Given the description of an element on the screen output the (x, y) to click on. 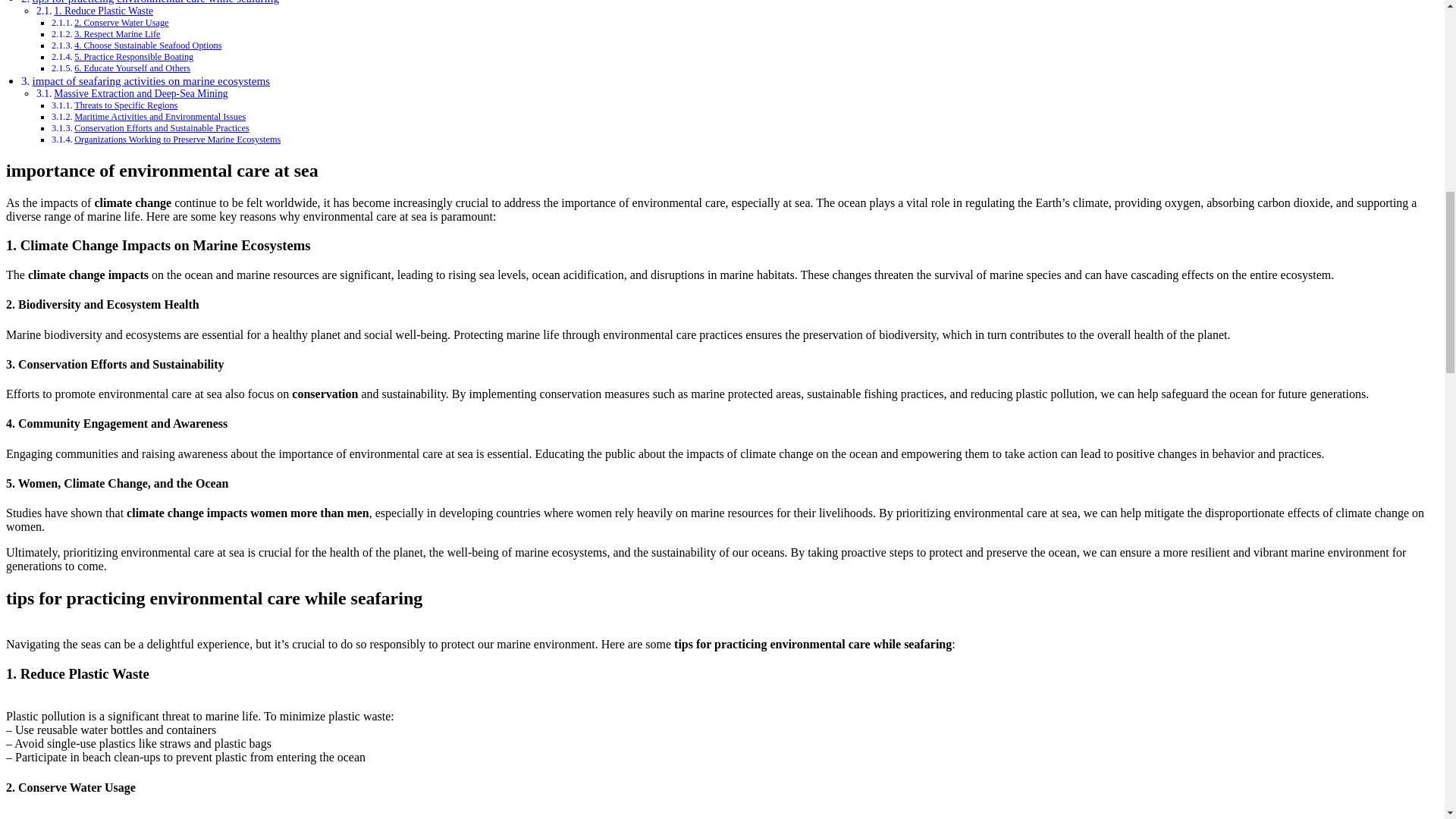
5. Practice Responsible Boating (133, 56)
4. Choose Sustainable Seafood Options (147, 45)
1. Reduce Plastic Waste (102, 10)
Threats to Specific Regions (125, 104)
2. Conserve Water Usage (121, 22)
2. Conserve Water Usage (121, 22)
Conservation Efforts and Sustainable Practices (161, 127)
tips for practicing environmental care while seafaring (155, 2)
4. Choose Sustainable Seafood Options (147, 45)
5. Practice Responsible Boating (133, 56)
